Given the description of an element on the screen output the (x, y) to click on. 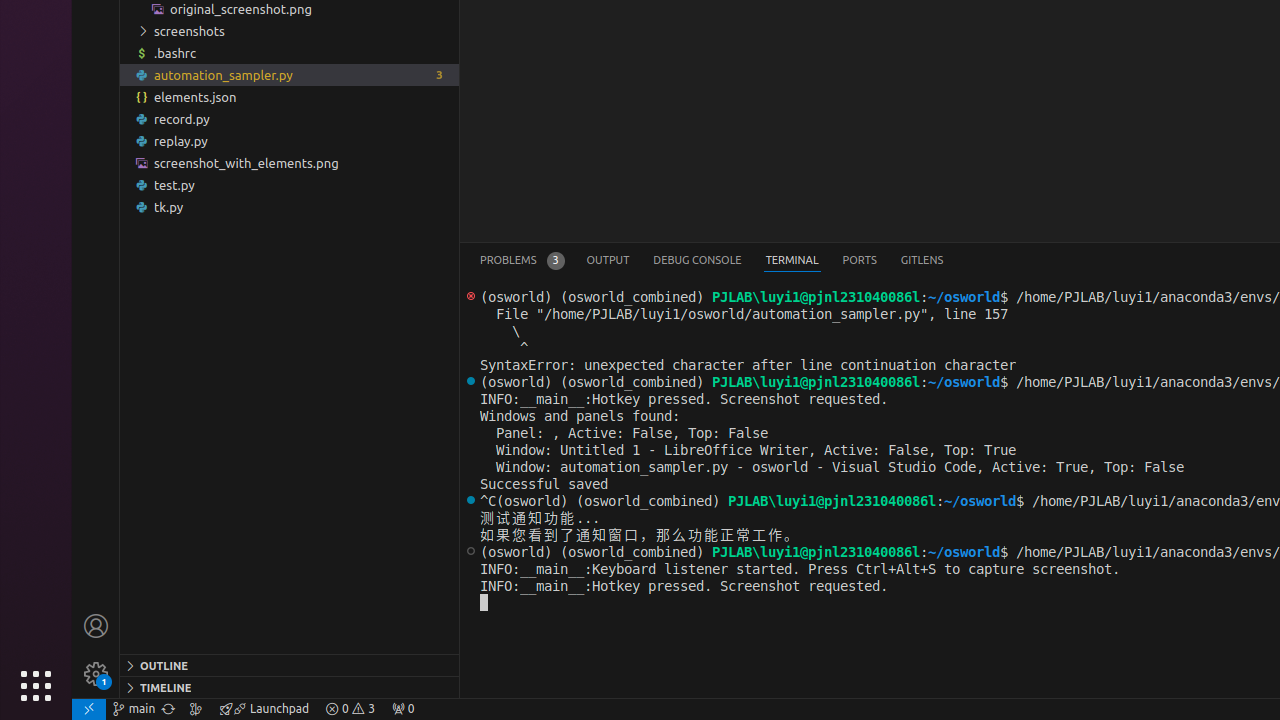
OSWorld (Git) - main, Checkout Branch/Tag... Element type: push-button (134, 709)
No Ports Forwarded Element type: push-button (403, 709)
Show the GitLens Commit Graph Element type: push-button (196, 709)
